Given the description of an element on the screen output the (x, y) to click on. 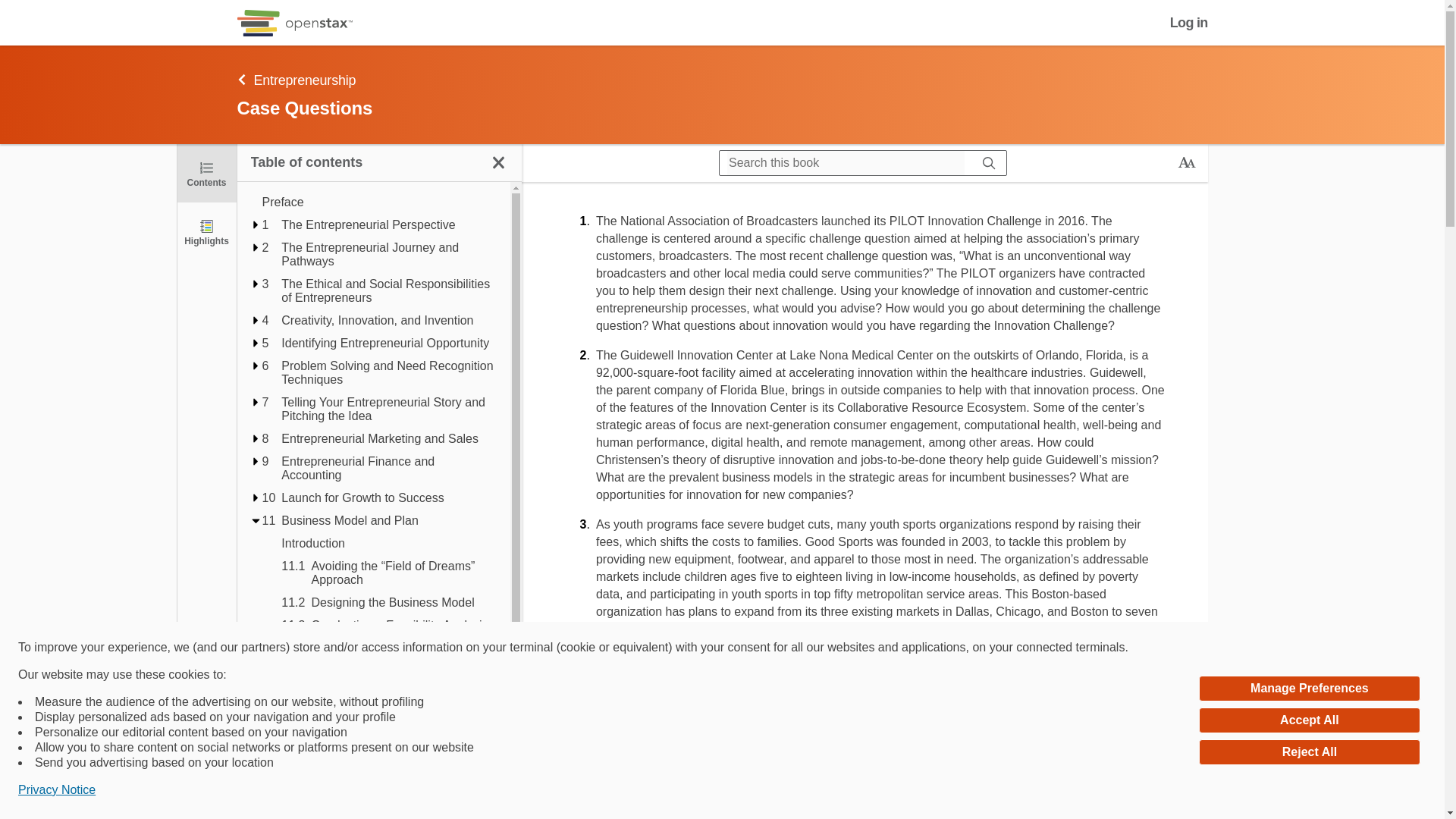
Reject All (1309, 751)
Accept All (1309, 720)
Highlights (206, 231)
Entrepreneurship (338, 119)
Log in (1189, 22)
Search (16, 12)
Preface (379, 202)
Contents (206, 173)
Entrepreneurship (635, 78)
Search (989, 162)
Manage Preferences (1309, 688)
Privacy Notice (56, 789)
